Given the description of an element on the screen output the (x, y) to click on. 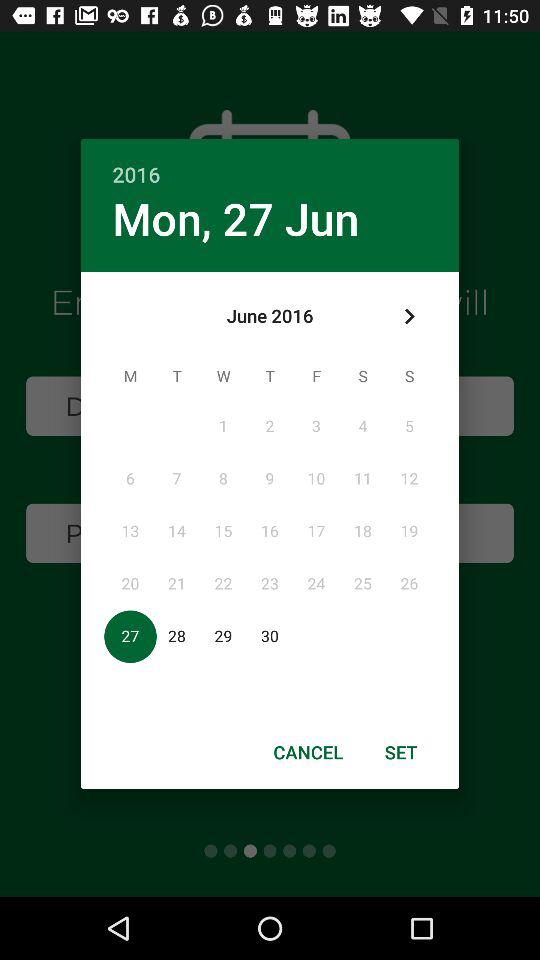
click the item below 2016 icon (408, 316)
